Given the description of an element on the screen output the (x, y) to click on. 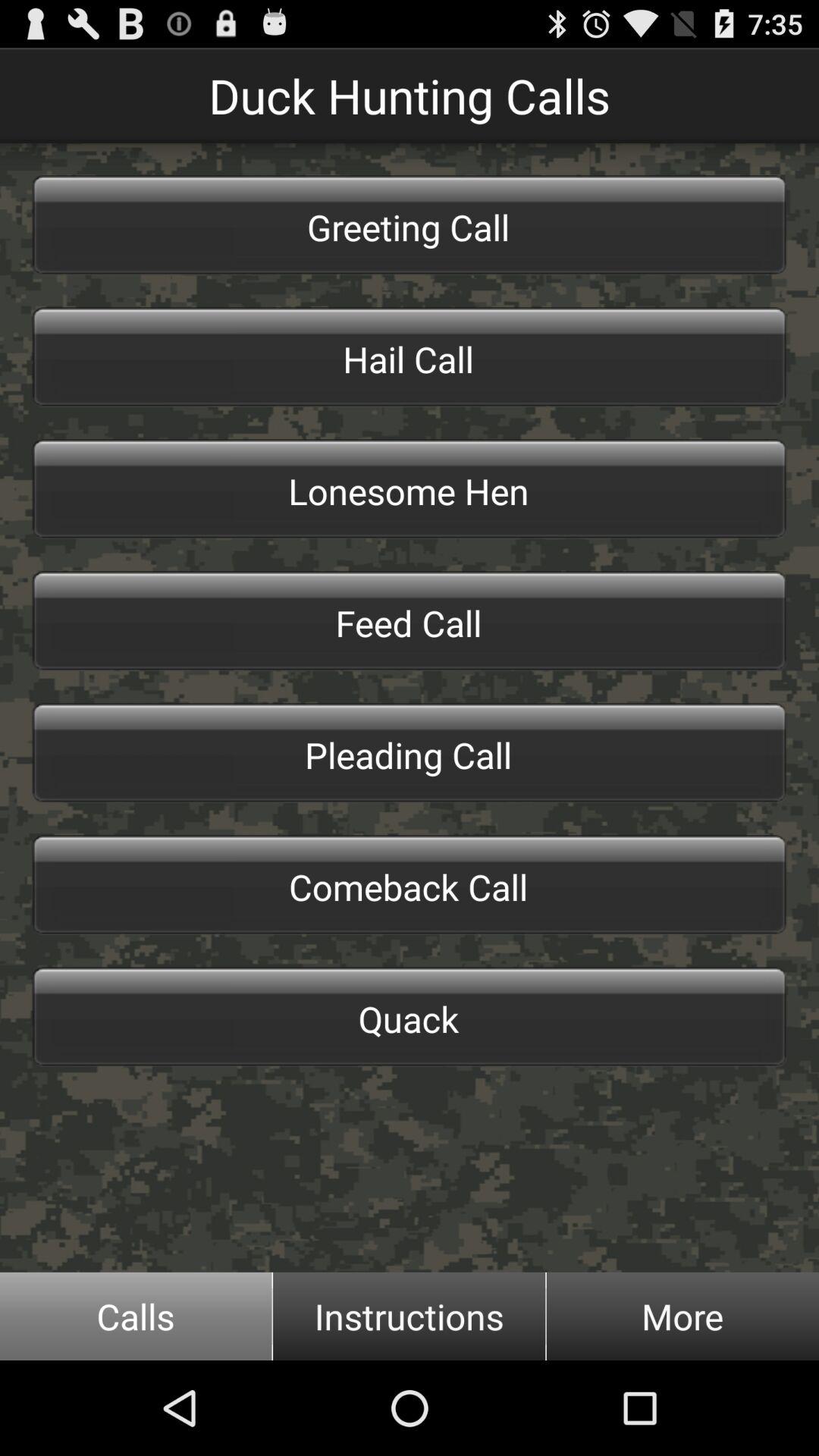
press hail call (409, 357)
